Given the description of an element on the screen output the (x, y) to click on. 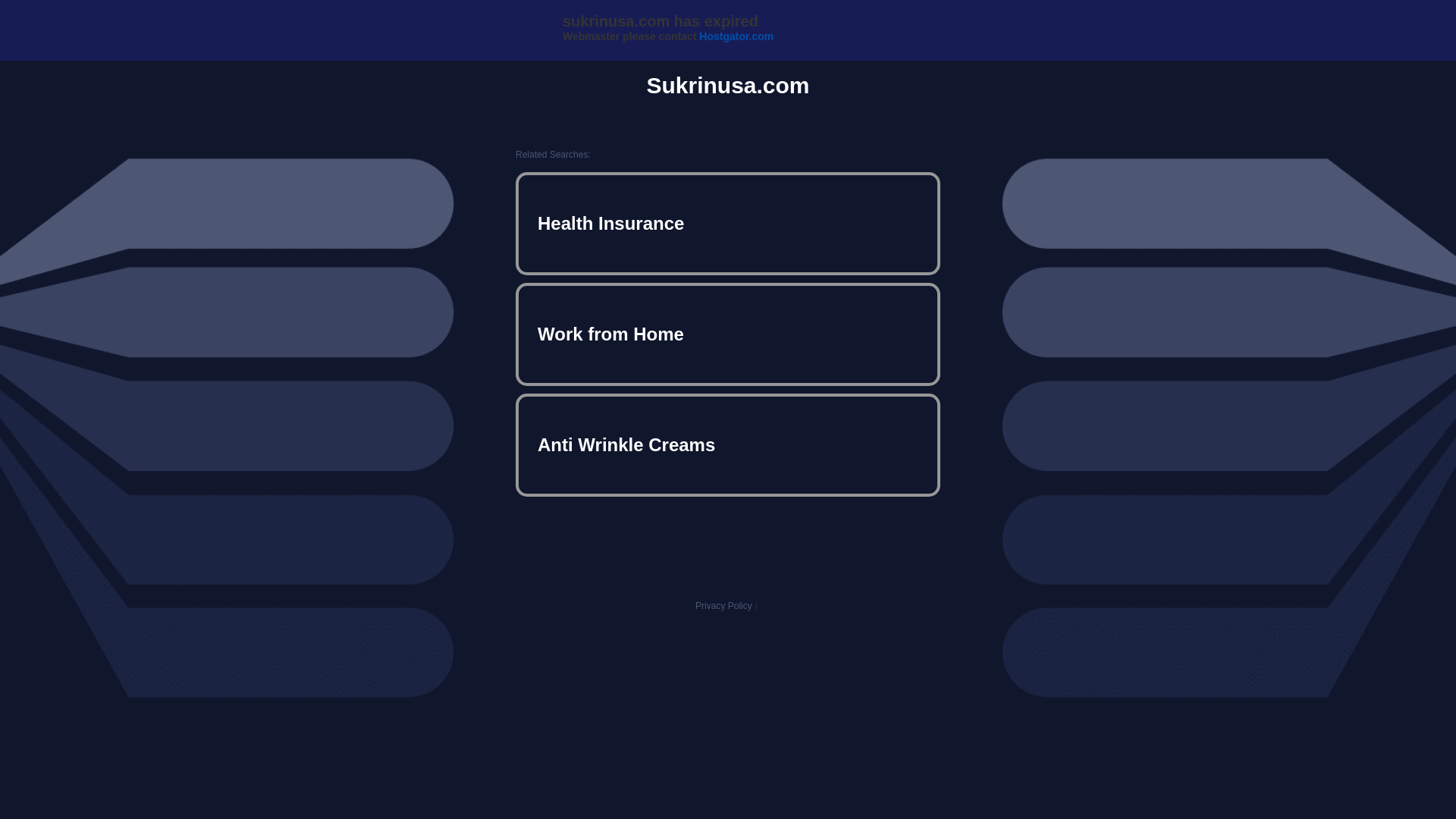
Work from Home (727, 334)
Sukrinusa.com (727, 85)
Work from Home (727, 334)
Anti Wrinkle Creams (727, 444)
Anti Wrinkle Creams (727, 444)
Health Insurance (727, 223)
Hostgator.com (735, 36)
Health Insurance (727, 223)
Privacy Policy (723, 605)
